Given the description of an element on the screen output the (x, y) to click on. 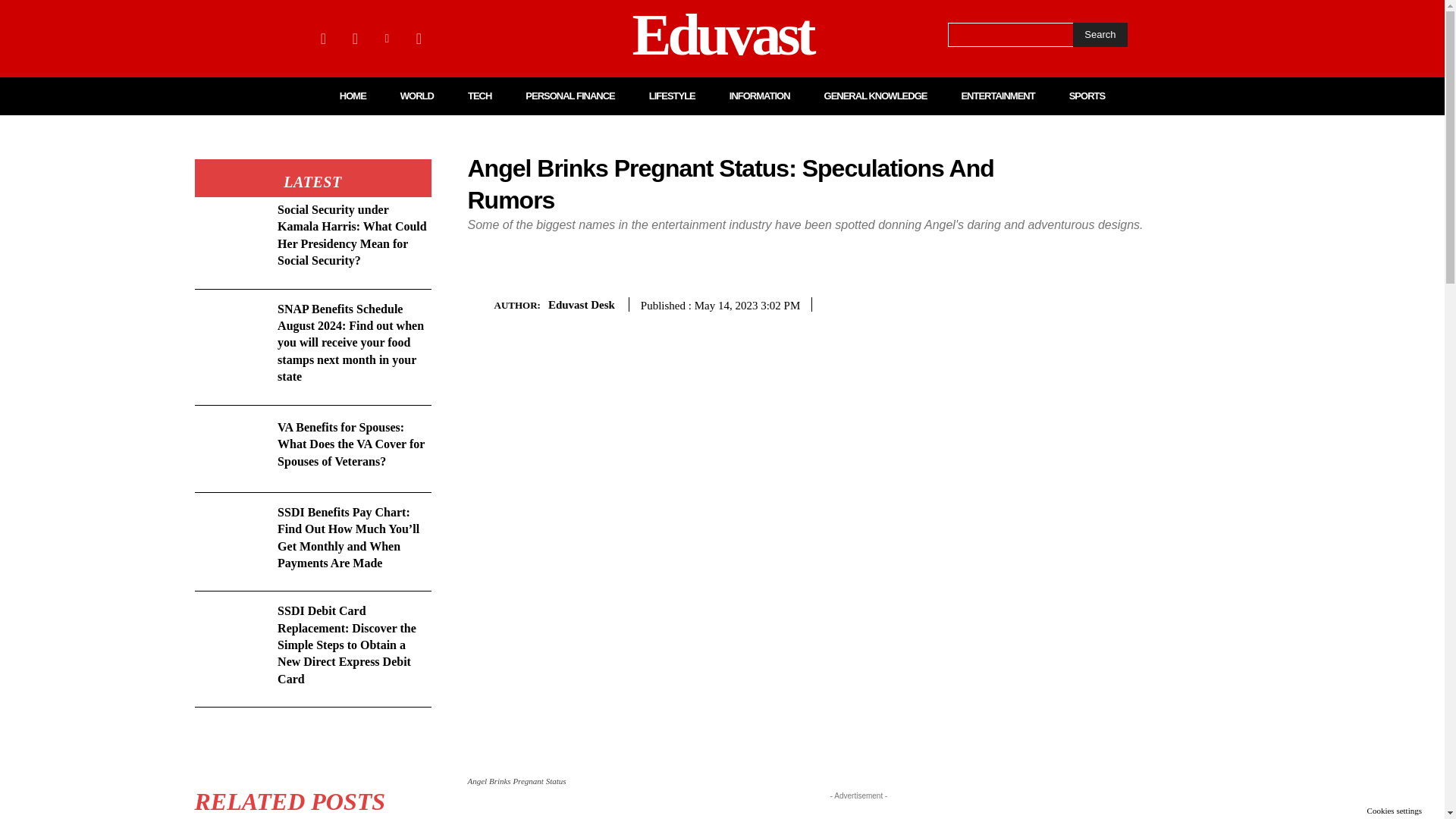
Search (1099, 34)
ENTERTAINMENT (996, 95)
PERSONAL FINANCE (569, 95)
INFORMATION (759, 95)
Linkedin (386, 38)
Twitter (418, 38)
Facebook (322, 38)
